Given the description of an element on the screen output the (x, y) to click on. 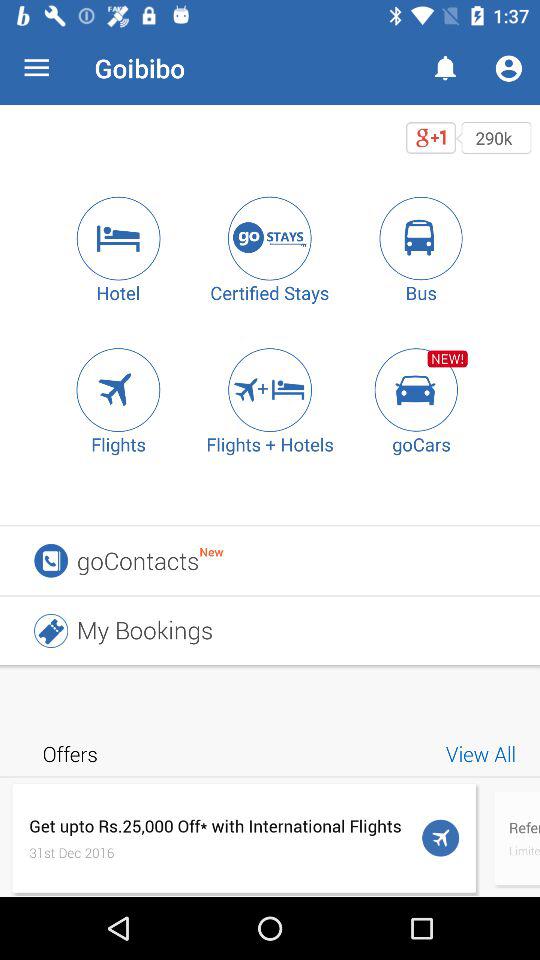
search hotels (118, 238)
